Given the description of an element on the screen output the (x, y) to click on. 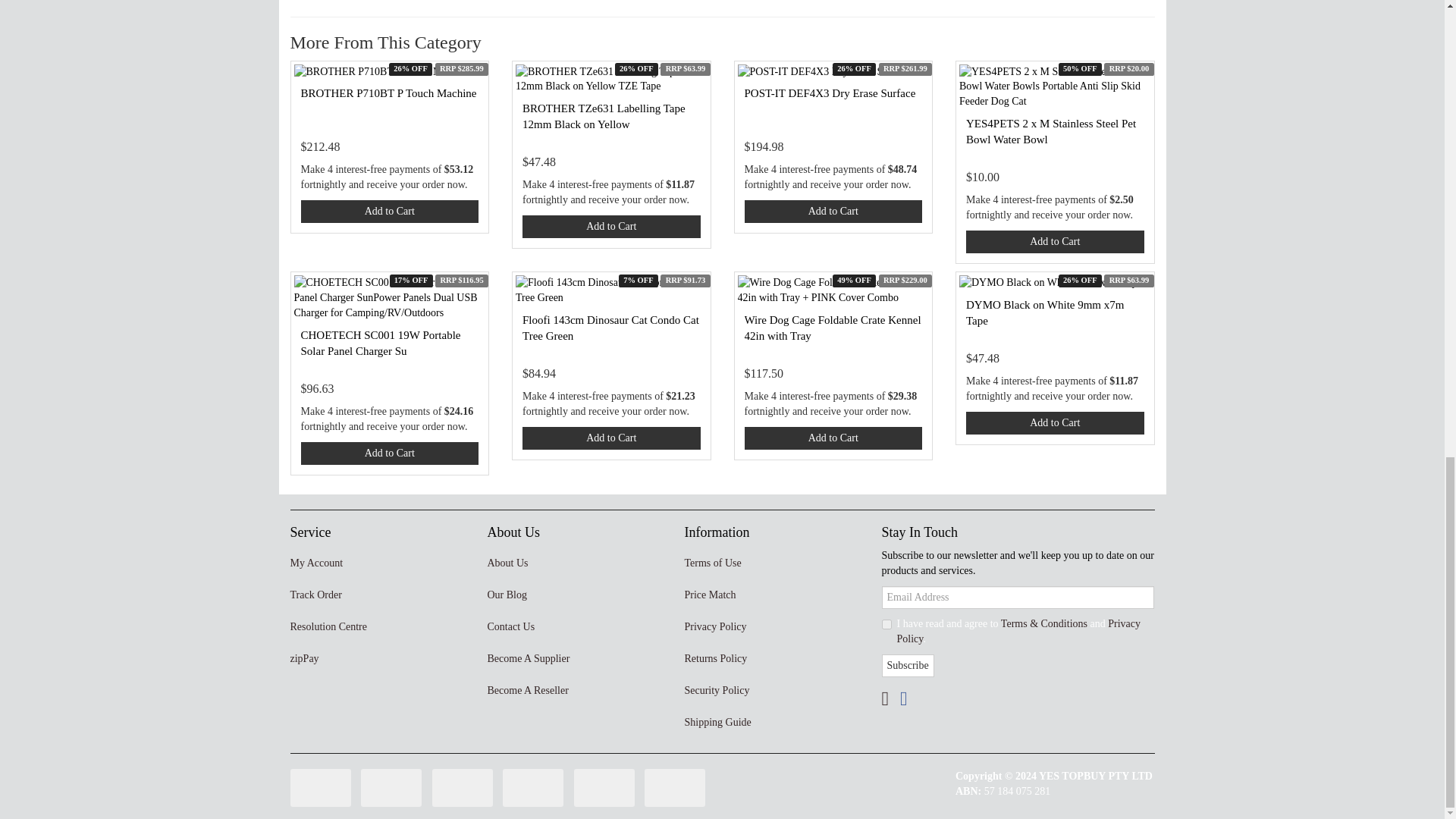
Add POST-IT DEF4X3 Dry Erase Surface to Cart (833, 210)
Subscribe (906, 665)
y (885, 624)
Add BROTHER P710BT P Touch Machine to Cart (389, 210)
Add Floofi 143cm Dinosaur Cat Condo Cat Tree Green to Cart (611, 437)
